Given the description of an element on the screen output the (x, y) to click on. 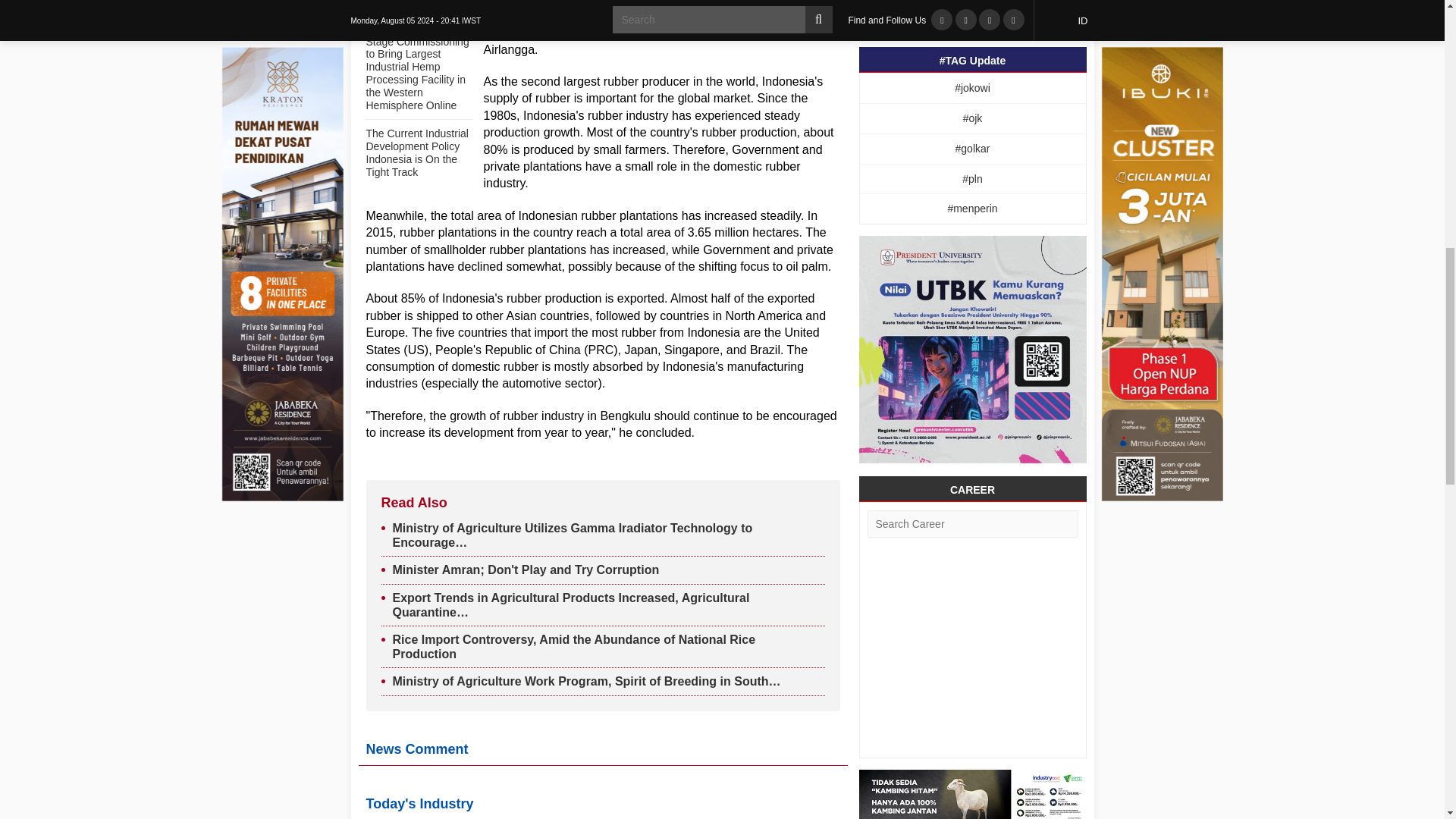
Minister Amran; Don't Play and Try Corruption (526, 569)
